Given the description of an element on the screen output the (x, y) to click on. 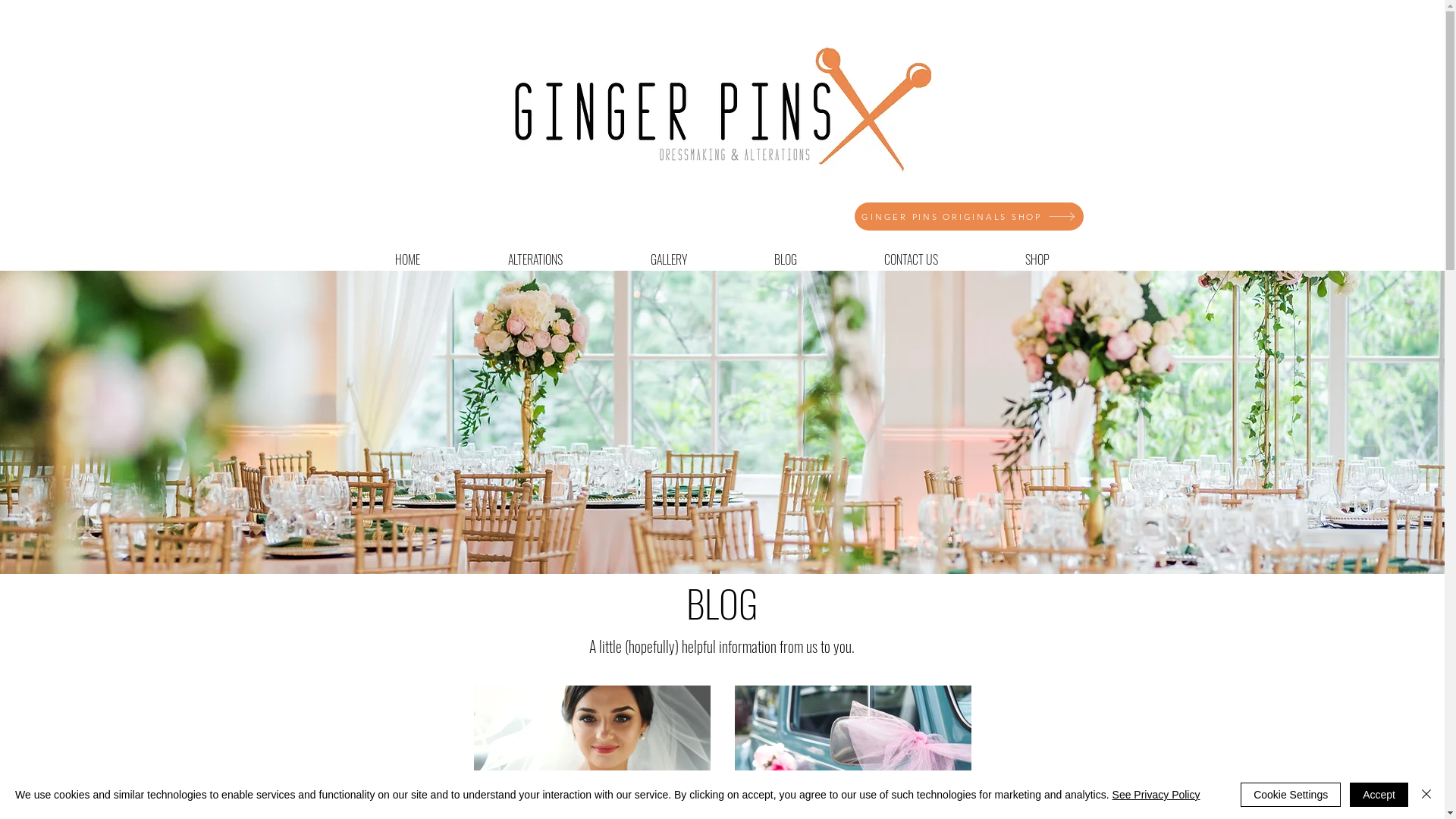
Accept Element type: text (1378, 794)
SHOP Element type: text (1036, 258)
HOME Element type: text (406, 258)
See Privacy Policy Element type: text (1156, 794)
CONTACT US Element type: text (910, 258)
BLOG Element type: text (785, 258)
ALTERATIONS Element type: text (535, 258)
GINGER PINS ORIGINALS SHOP Element type: text (967, 216)
Cookie Settings Element type: text (1290, 794)
